Given the description of an element on the screen output the (x, y) to click on. 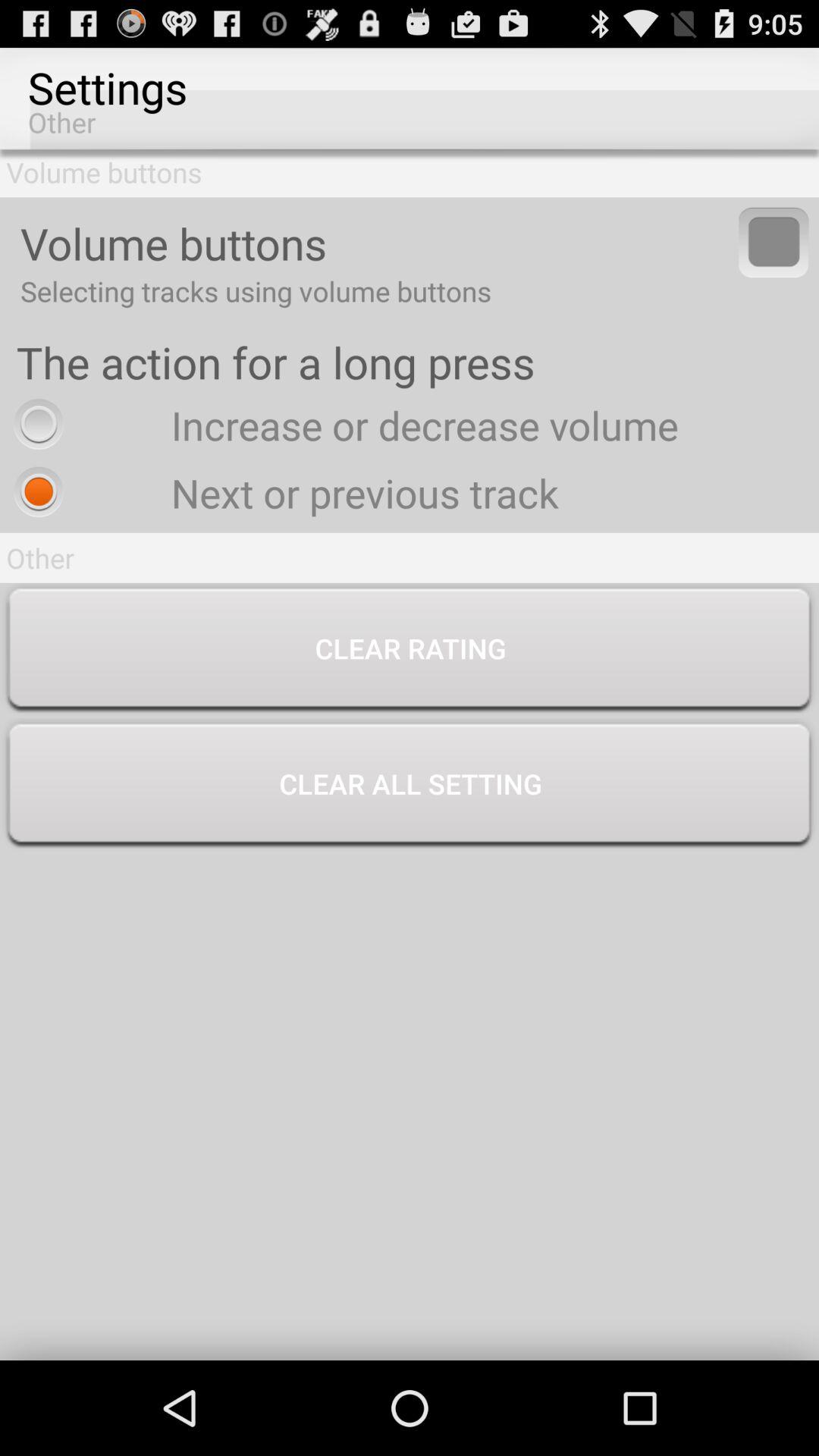
switch volume buttons (773, 242)
